Given the description of an element on the screen output the (x, y) to click on. 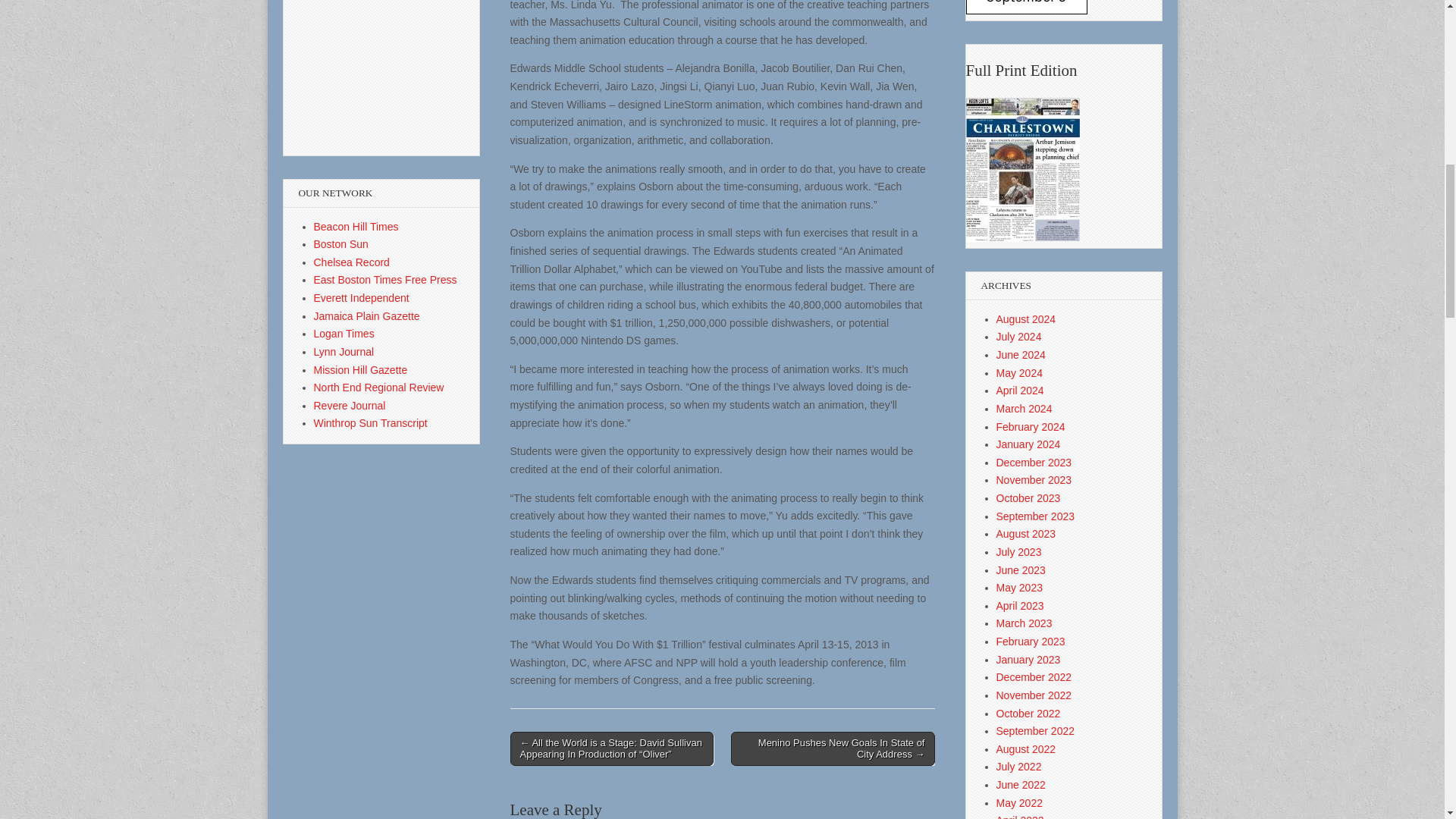
Mission Hill Gazette (360, 369)
Winthrop Sun Transcript (371, 422)
Lynn Journal (344, 351)
Jamaica Plain Gazette (367, 316)
Chelsea Record (352, 262)
Revere Journal (349, 405)
Logan Times (344, 333)
Beacon Hill Times (356, 226)
North End Regional Review (379, 387)
Everett Independent (361, 297)
